Given the description of an element on the screen output the (x, y) to click on. 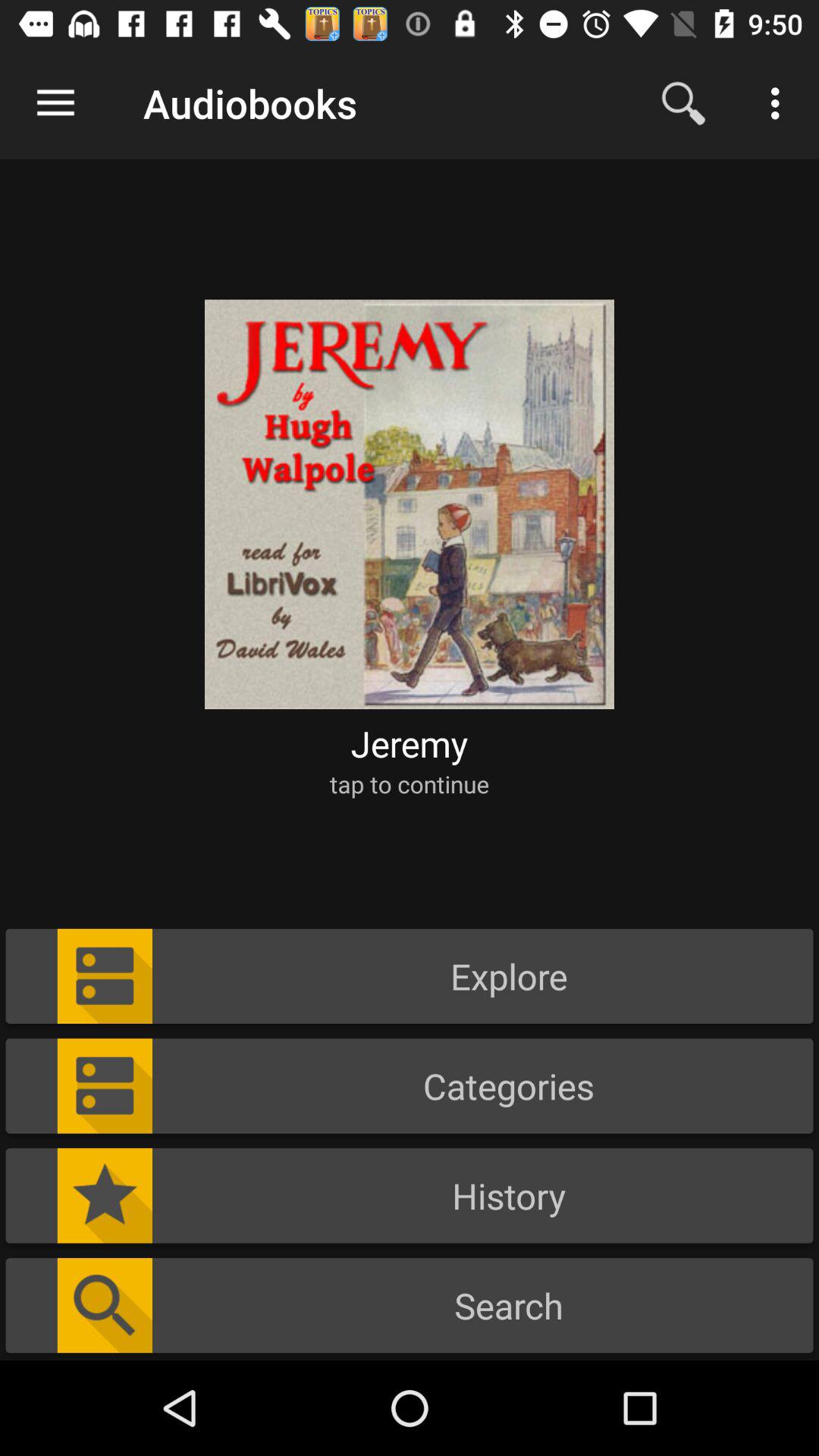
flip to the tap to continue icon (409, 783)
